Given the description of an element on the screen output the (x, y) to click on. 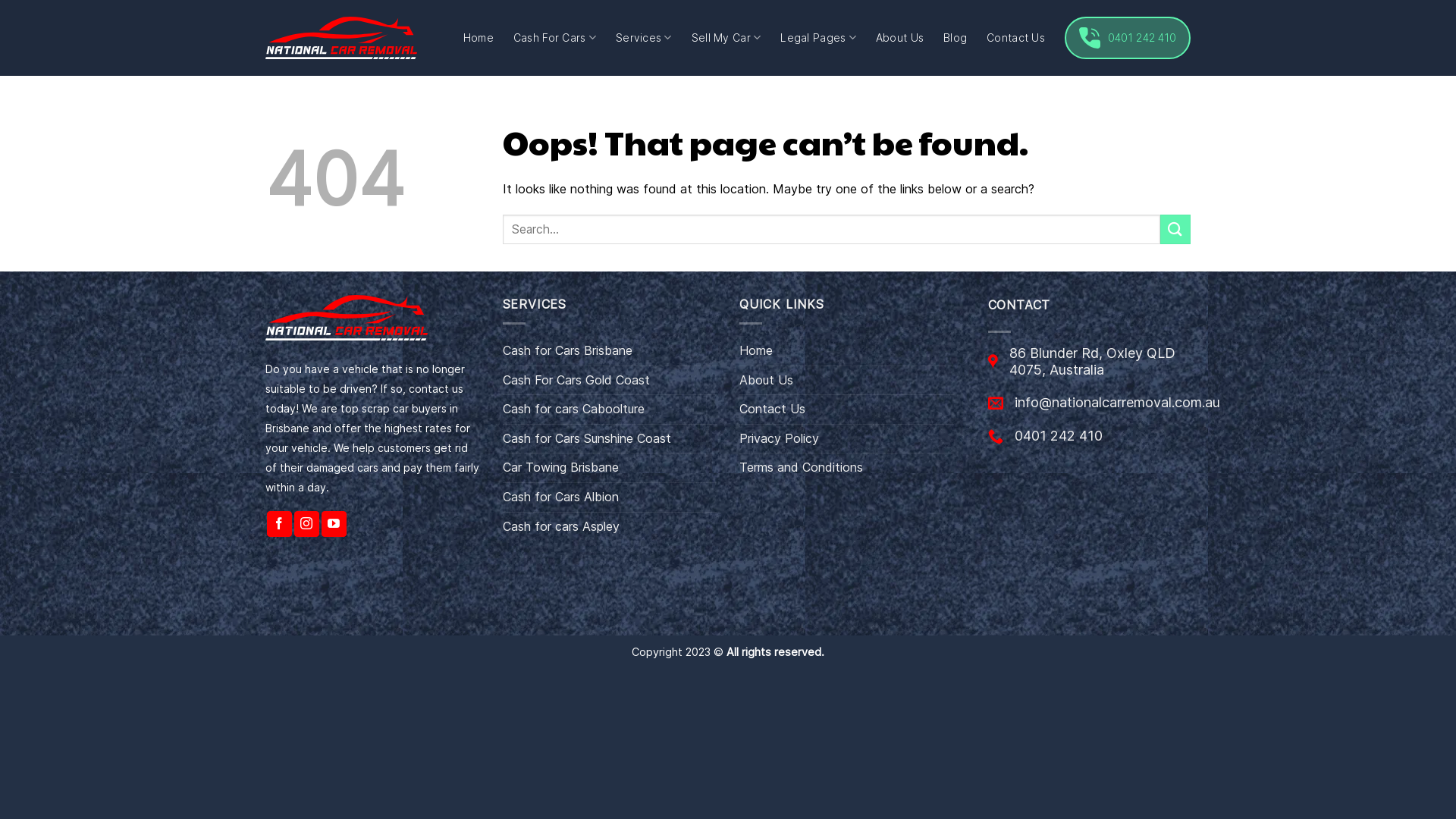
National Maps Element type: hover (1083, 539)
Home Element type: text (755, 350)
86 Blunder Rd, Oxley QLD 4075, Australia Element type: text (1093, 361)
Skip to content Element type: text (0, 0)
Legal Pages Element type: text (818, 37)
Cash for Cars Albion Element type: text (560, 497)
Privacy Policy Element type: text (779, 438)
Contact Us Element type: text (1015, 37)
Follow on YouTube Element type: hover (333, 523)
Blog Element type: text (954, 37)
Follow on Instagram Element type: hover (306, 523)
Cash for cars Aspley Element type: text (560, 526)
Car Towing Brisbane Element type: text (560, 467)
Cash For Cars Element type: text (554, 37)
Sell My Car Element type: text (726, 37)
Terms and Conditions Element type: text (800, 467)
National Car Removal - national car removal Element type: hover (341, 37)
Home Element type: text (478, 37)
Services Element type: text (643, 37)
Contact Us Element type: text (772, 409)
Cash for Cars Sunshine Coast Element type: text (586, 438)
Follow on Facebook Element type: hover (278, 523)
About Us Element type: text (766, 380)
Cash For Cars Gold Coast Element type: text (575, 380)
Cash for cars Caboolture Element type: text (572, 409)
About Us Element type: text (899, 37)
Cash for Cars Brisbane Element type: text (566, 350)
info@nationalcarremoval.com.au Element type: text (1117, 402)
0401 242 410 Element type: text (1127, 37)
0401 242 410 Element type: text (1058, 435)
